Given the description of an element on the screen output the (x, y) to click on. 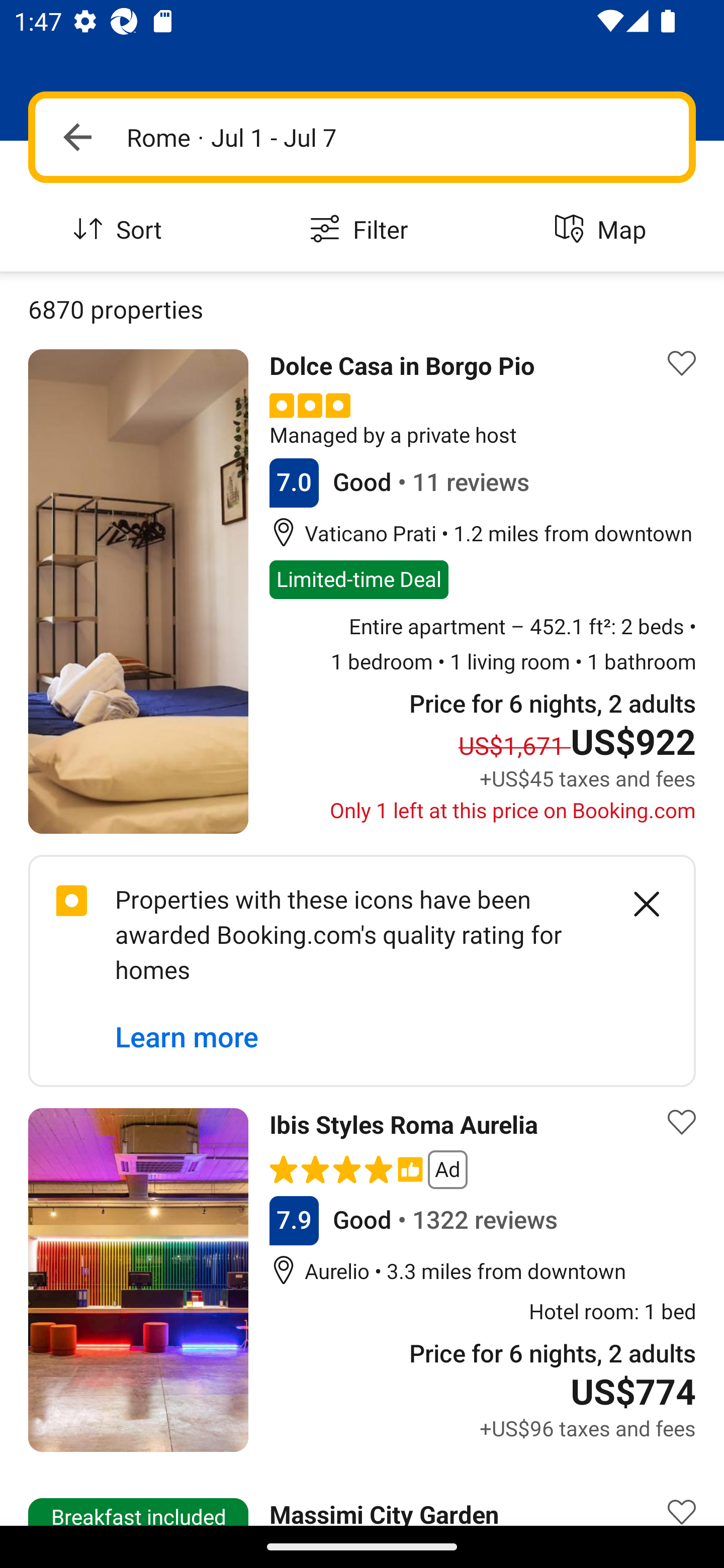
Navigate up Rome · Jul 1 - Jul 7 (362, 136)
Navigate up (77, 136)
Sort (120, 230)
Filter (361, 230)
Map (603, 230)
Save property to list (681, 363)
Clear (635, 904)
Learn more (187, 1037)
Save property to list (681, 1122)
Save property to list (681, 1497)
